Given the description of an element on the screen output the (x, y) to click on. 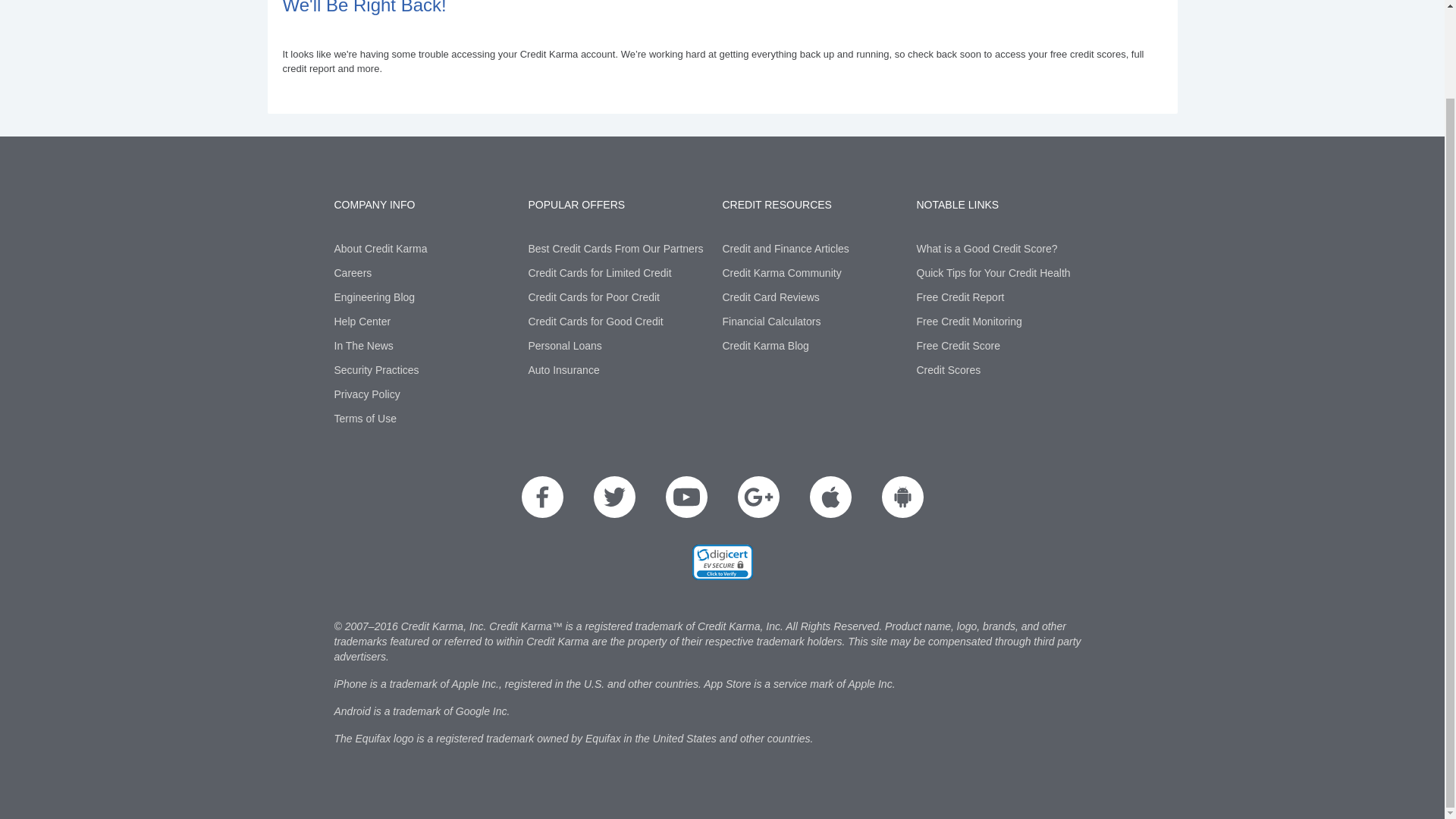
YouTube (686, 496)
Download Android App (901, 496)
Google Plus (757, 496)
Facebook (542, 496)
Twitter (613, 496)
Download iOS App (830, 496)
